Given the description of an element on the screen output the (x, y) to click on. 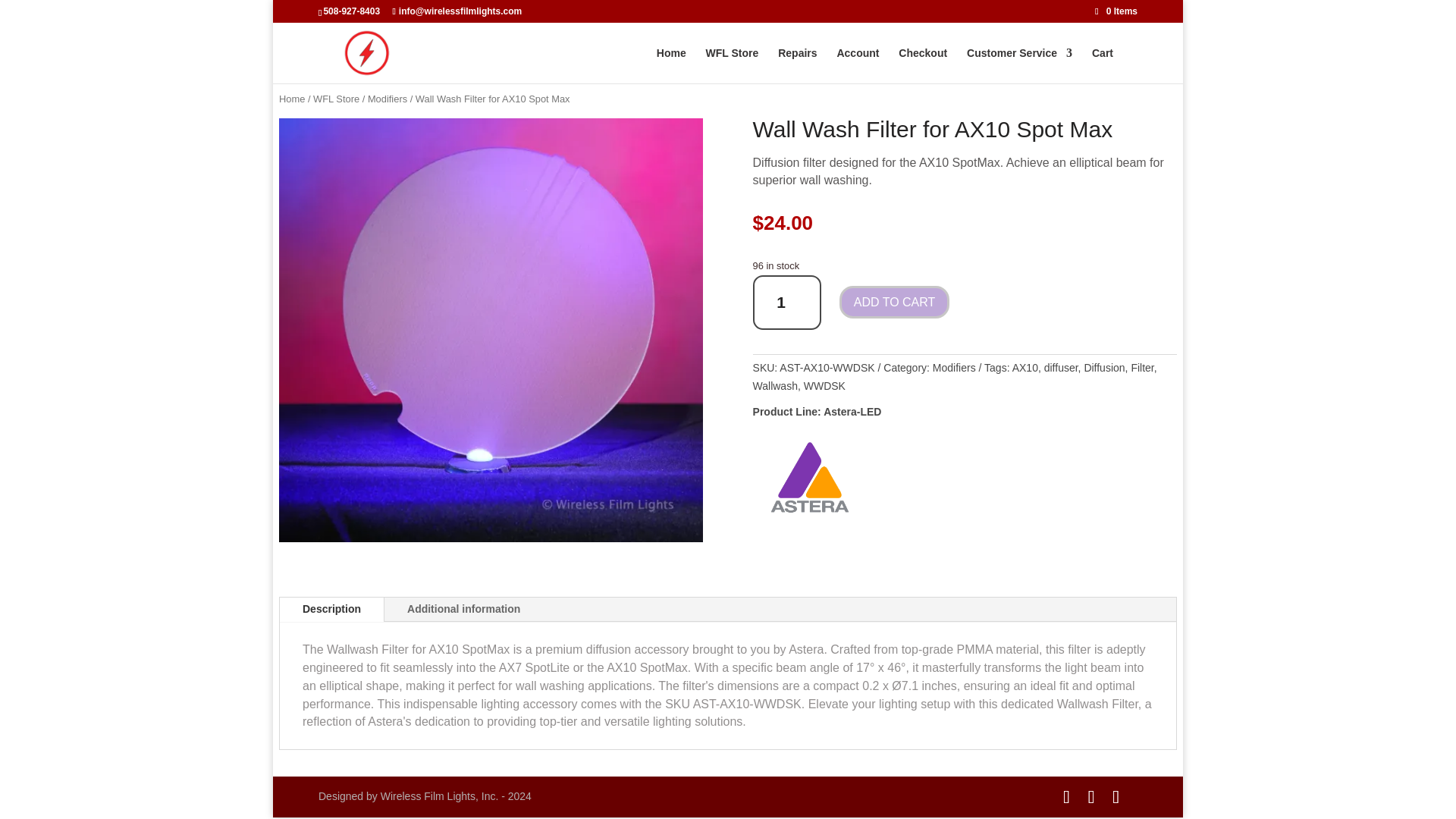
0 Items (1115, 10)
Astera-LED (852, 411)
WWDSK (824, 386)
Filter (1142, 367)
AX10 (1024, 367)
Checkout (922, 65)
Additional information (463, 609)
Home (291, 98)
ADD TO CART (895, 301)
